Given the description of an element on the screen output the (x, y) to click on. 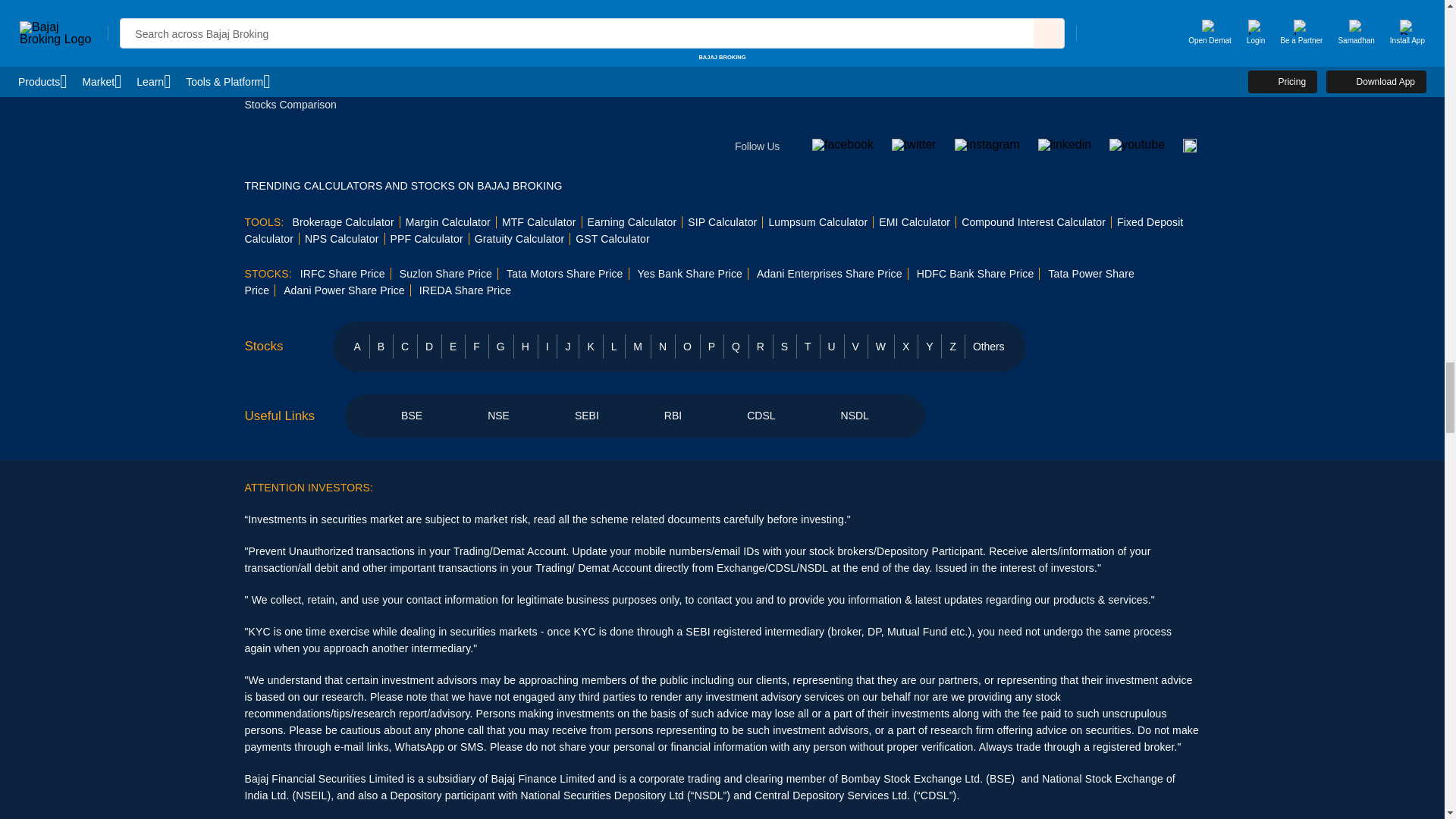
Instagram (987, 144)
spotify (1189, 147)
Twitter (913, 144)
 LinkedIn  (1064, 144)
YouTube (1136, 144)
Facebook (842, 144)
